Given the description of an element on the screen output the (x, y) to click on. 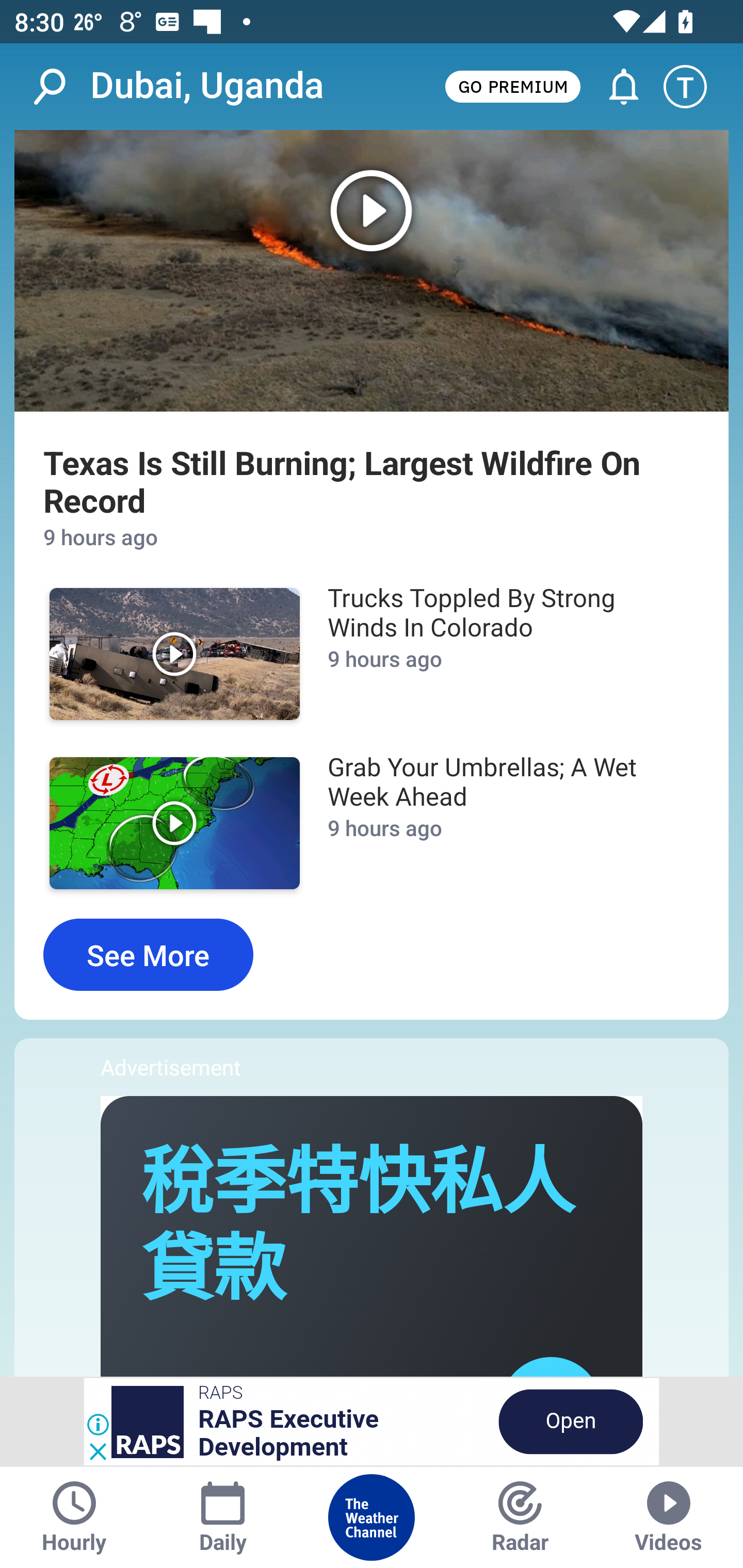
Search (59, 86)
Go to Alerts and Notifications (614, 86)
Setting icon T (694, 86)
Dubai, Uganda (206, 85)
GO PREMIUM (512, 85)
Play (371, 270)
Play (174, 653)
Grab Your Umbrellas; A Wet Week Ahead 9 hours ago (502, 822)
Play (174, 823)
See More (148, 954)
稅季特快私人 貸款 稅季特快私人 貸款 (357, 1226)
Hourly Tab Hourly (74, 1517)
Daily Tab Daily (222, 1517)
Radar Tab Radar (519, 1517)
Videos Tab Videos (668, 1517)
